Given the description of an element on the screen output the (x, y) to click on. 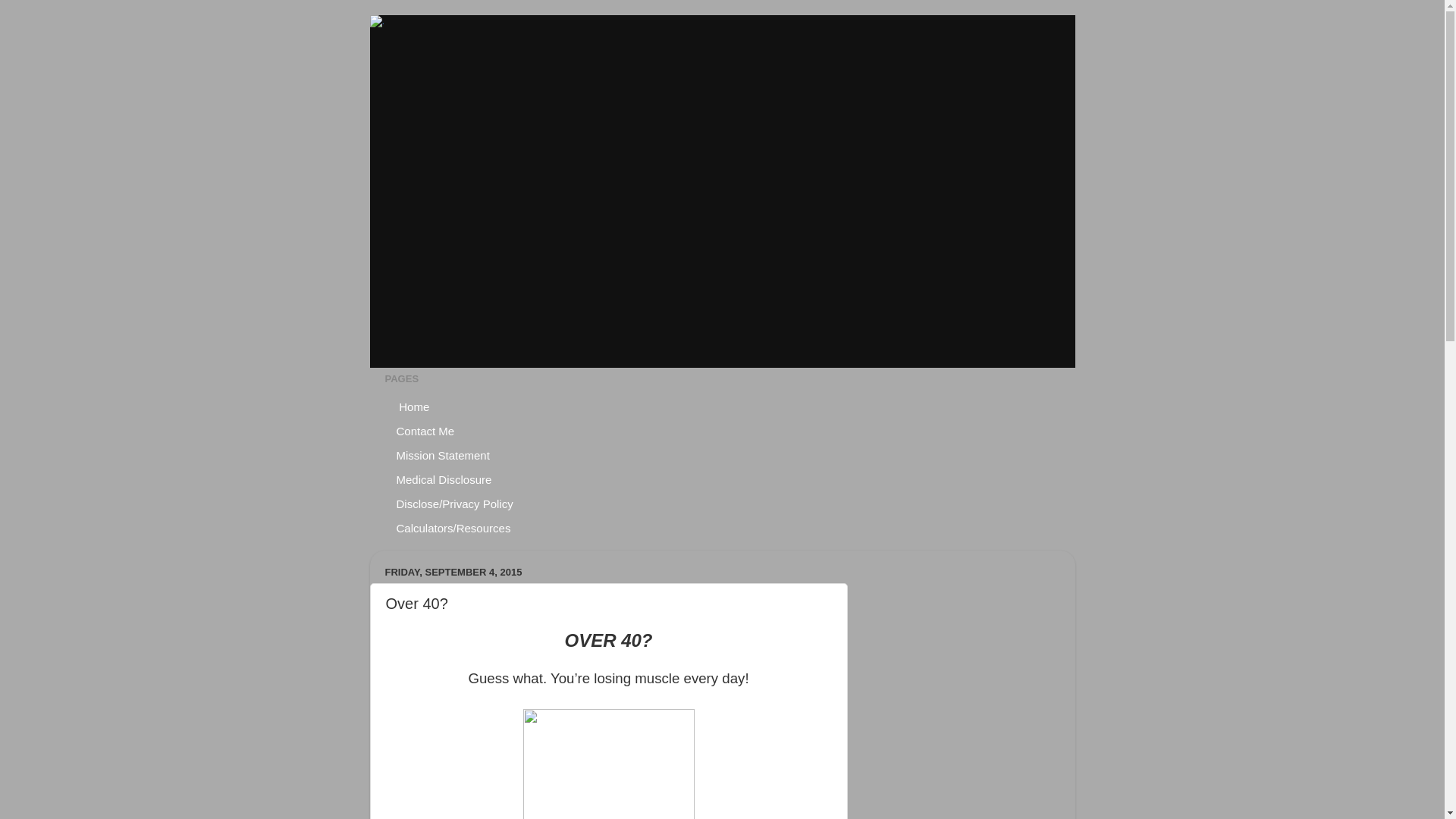
Contact Me (426, 430)
Home (413, 405)
Mission Statement (443, 454)
Medical Disclosure (444, 478)
